Given the description of an element on the screen output the (x, y) to click on. 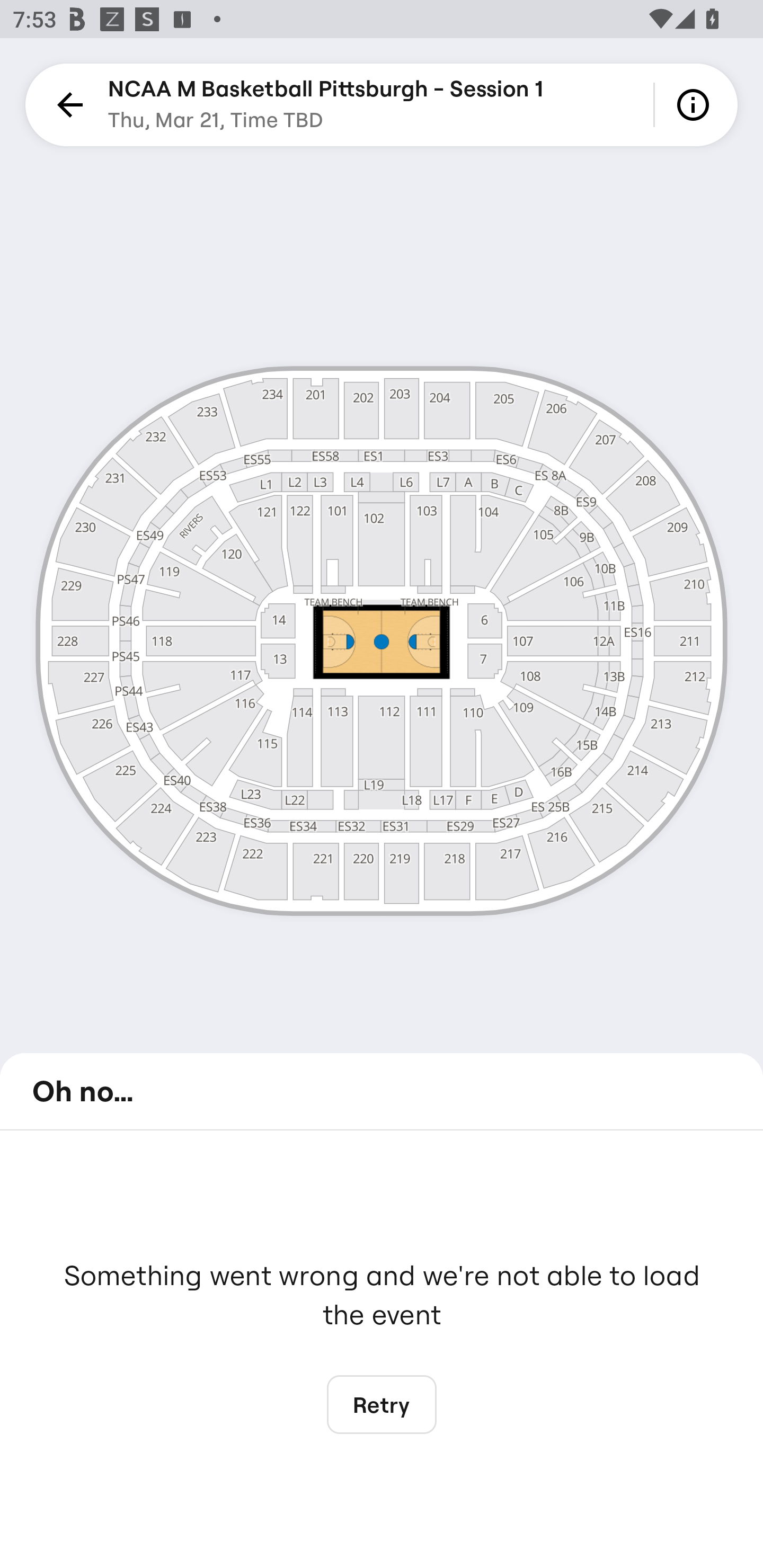
Back (66, 104)
Info (695, 104)
Retry (381, 1404)
